Given the description of an element on the screen output the (x, y) to click on. 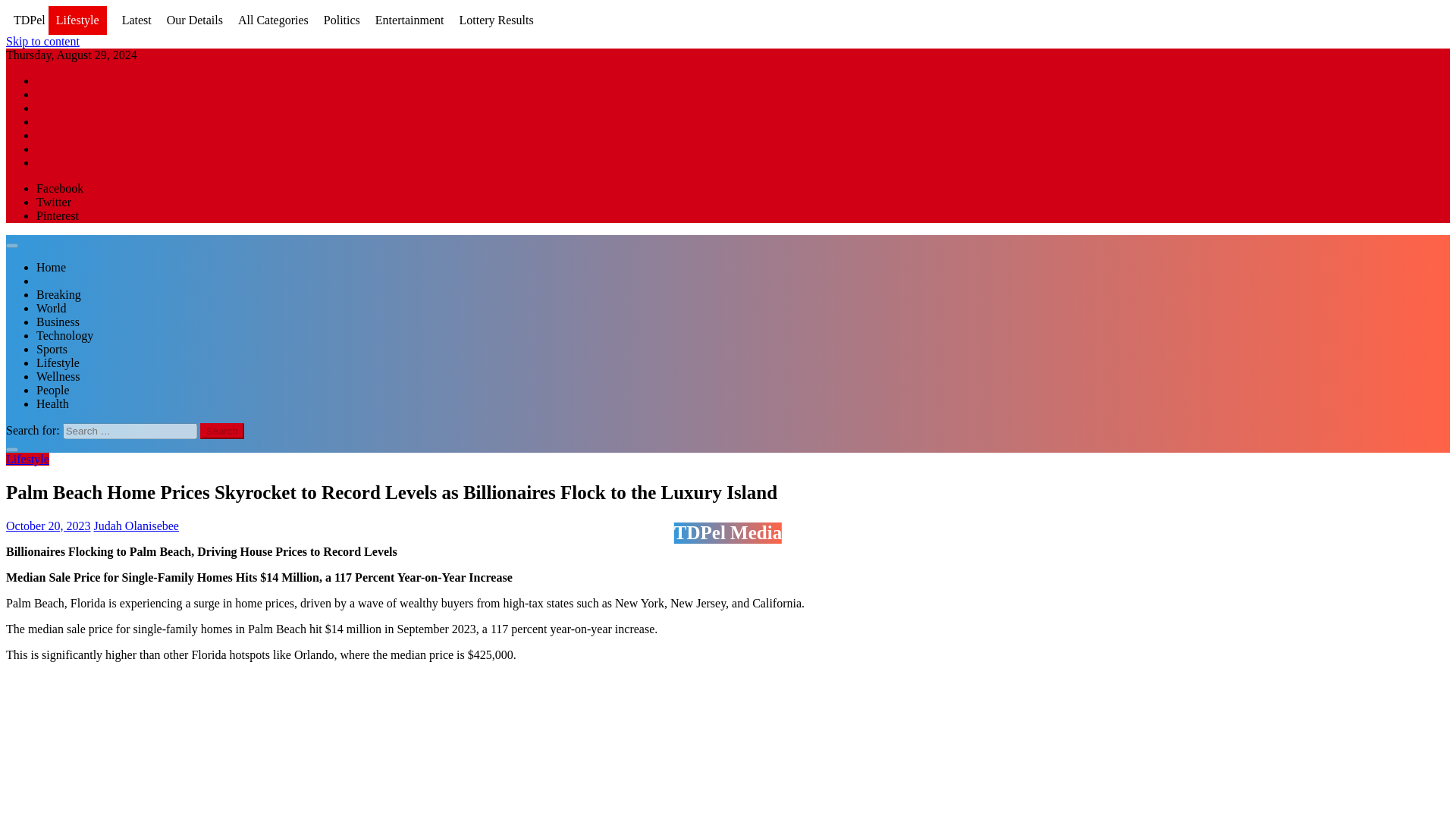
World (51, 308)
Pinterest (57, 215)
Wellness (58, 376)
Home (50, 267)
Entertainment (409, 19)
Facebook (59, 187)
Sports (51, 349)
TDPel (29, 19)
Lottery Results (495, 19)
Judah Olanisebee (136, 524)
